Given the description of an element on the screen output the (x, y) to click on. 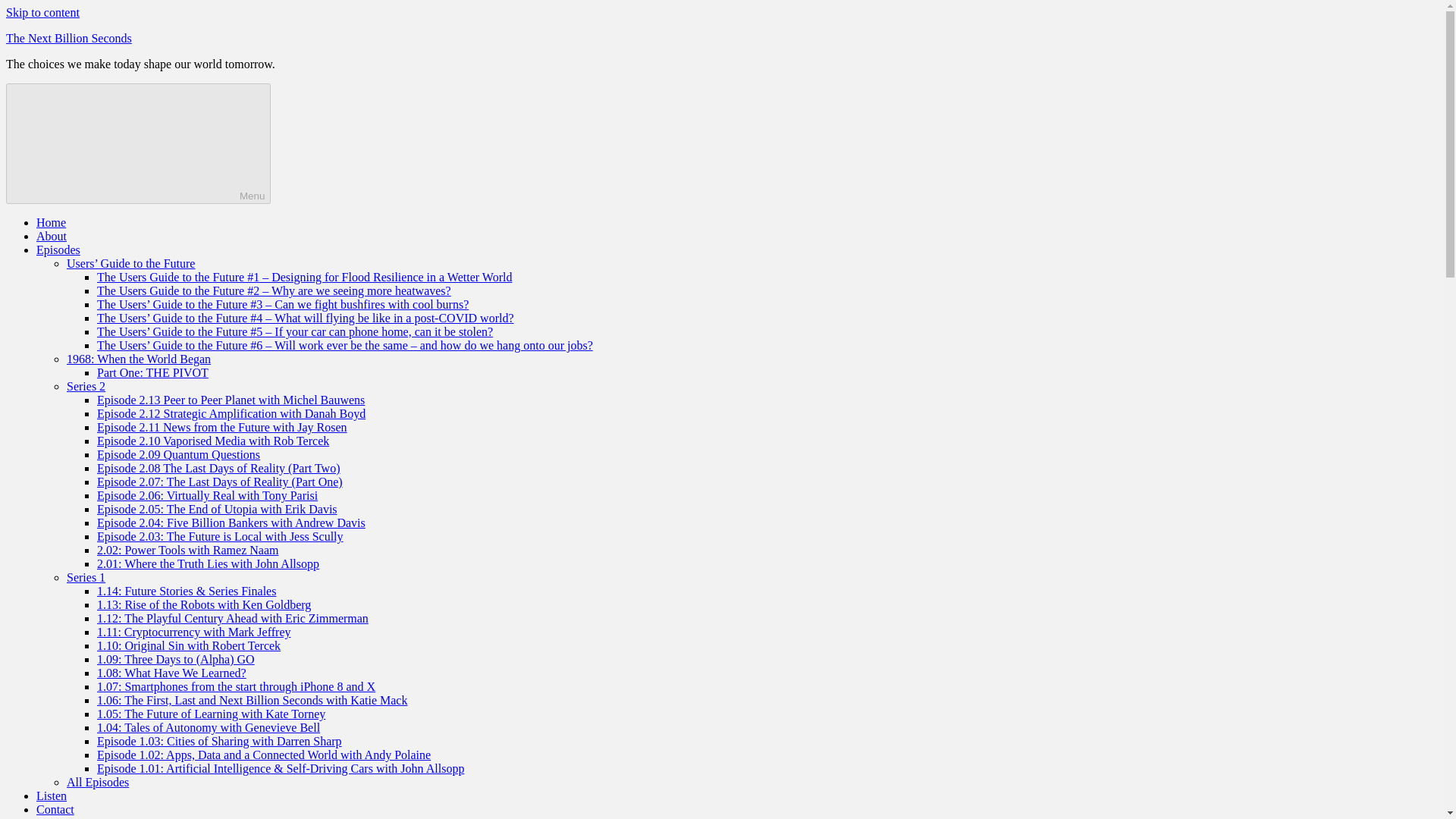
1.10: Original Sin with Robert Tercek (189, 645)
Episode 2.13 Peer to Peer Planet with Michel Bauwens (231, 399)
Episode 2.06: Virtually Real with Tony Parisi (207, 495)
Episode 2.12 Strategic Amplification with Danah Boyd (231, 413)
Series 1 (85, 576)
The Next Billion Seconds (68, 38)
Episode 2.04: Five Billion Bankers with Andrew Davis (231, 522)
1.11: Cryptocurrency with Mark Jeffrey (193, 631)
1.08: What Have We Learned? (171, 672)
1968: When the World Began (138, 358)
1.12: The Playful Century Ahead with Eric Zimmerman (232, 617)
Episode 2.11 News from the Future with Jay Rosen (222, 427)
1.13: Rise of the Robots with Ken Goldberg (204, 604)
Home (50, 222)
